Given the description of an element on the screen output the (x, y) to click on. 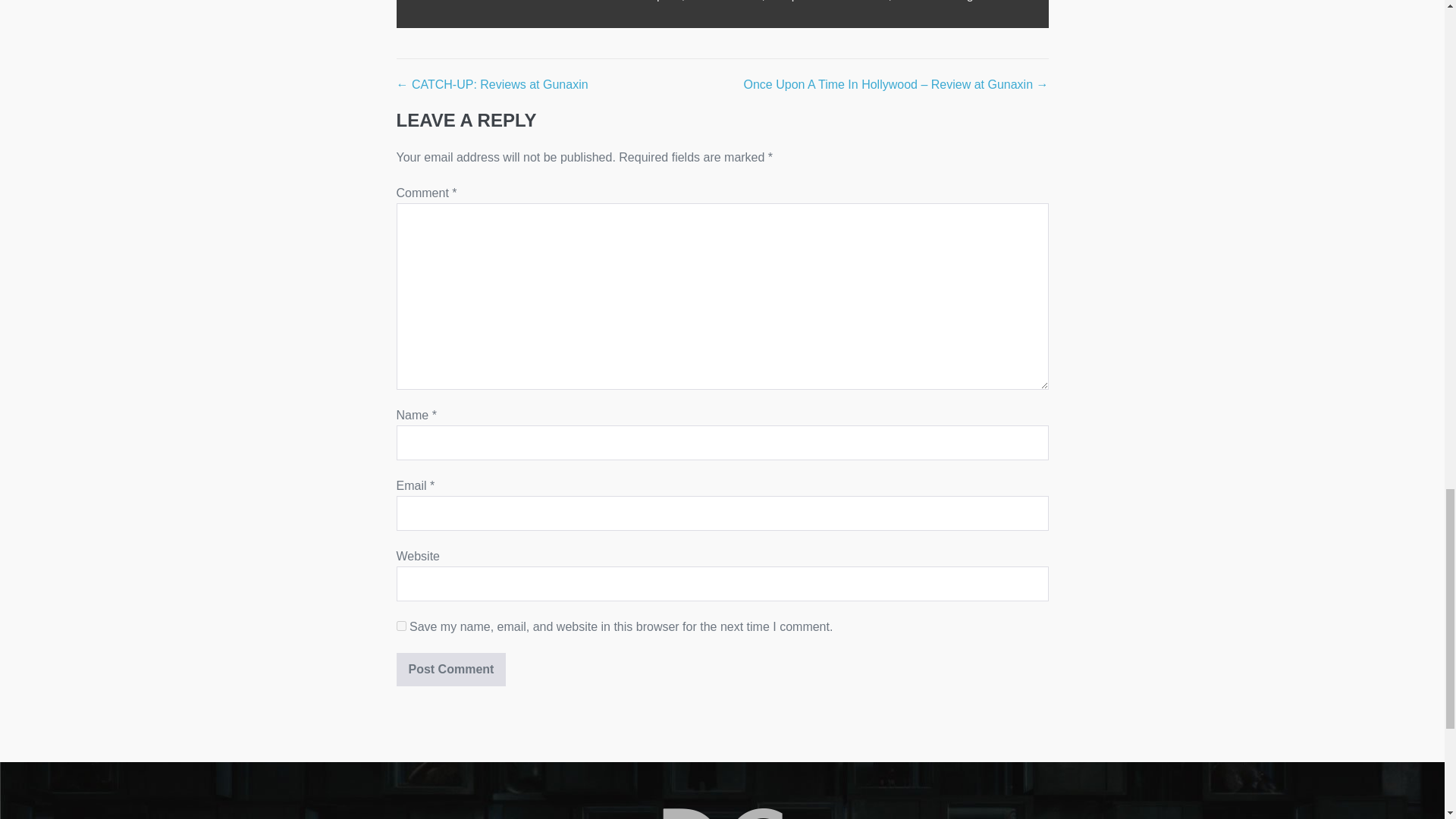
Mike Parsons (724, 0)
yes (401, 625)
Post Comment (450, 669)
Post Comment (450, 669)
dcfilmdom-logo-light (721, 813)
